Given the description of an element on the screen output the (x, y) to click on. 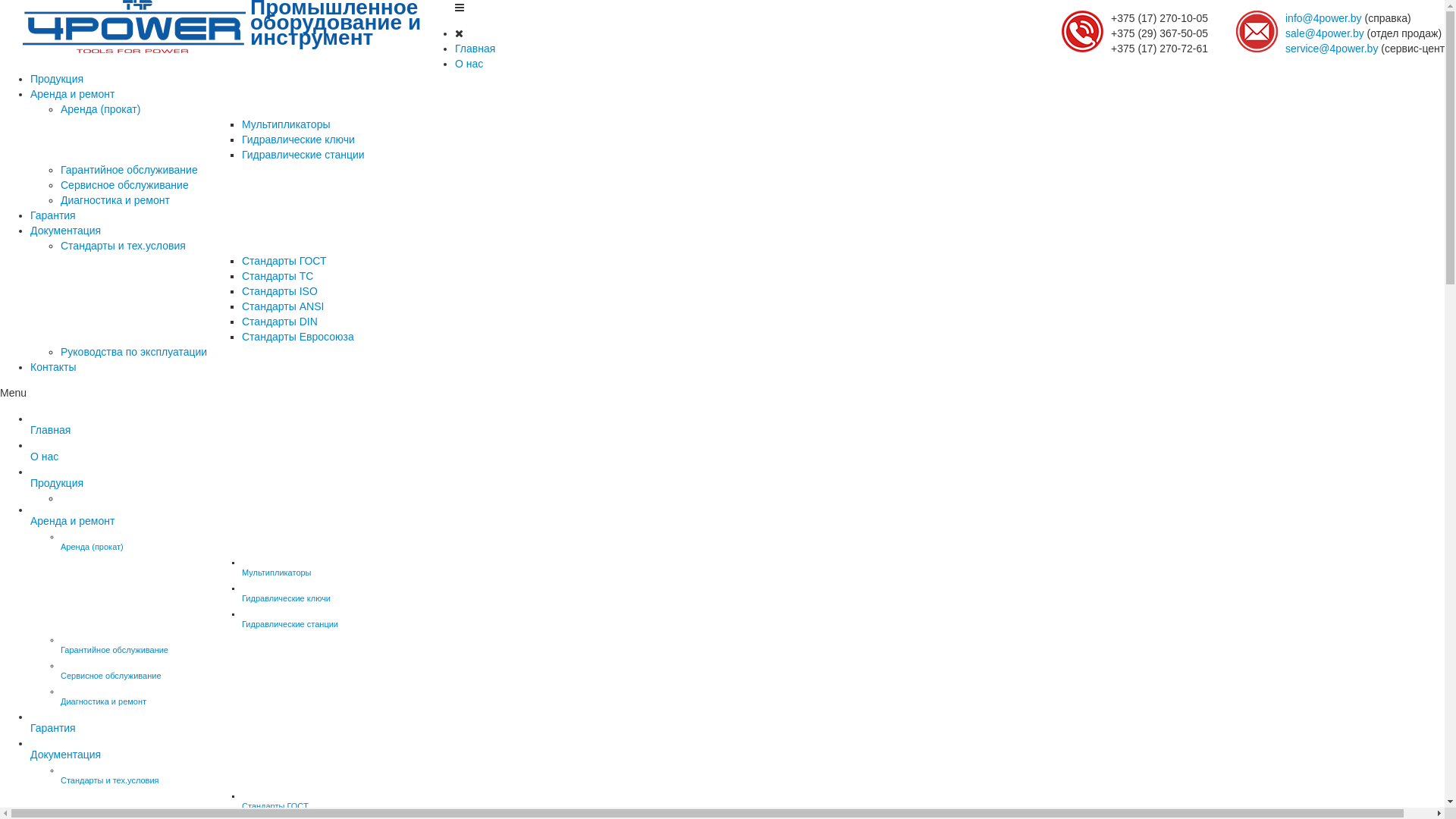
sale@4power.by Element type: text (1324, 33)
info@4power.by Element type: text (1323, 18)
service@4power.by Element type: text (1331, 48)
